Given the description of an element on the screen output the (x, y) to click on. 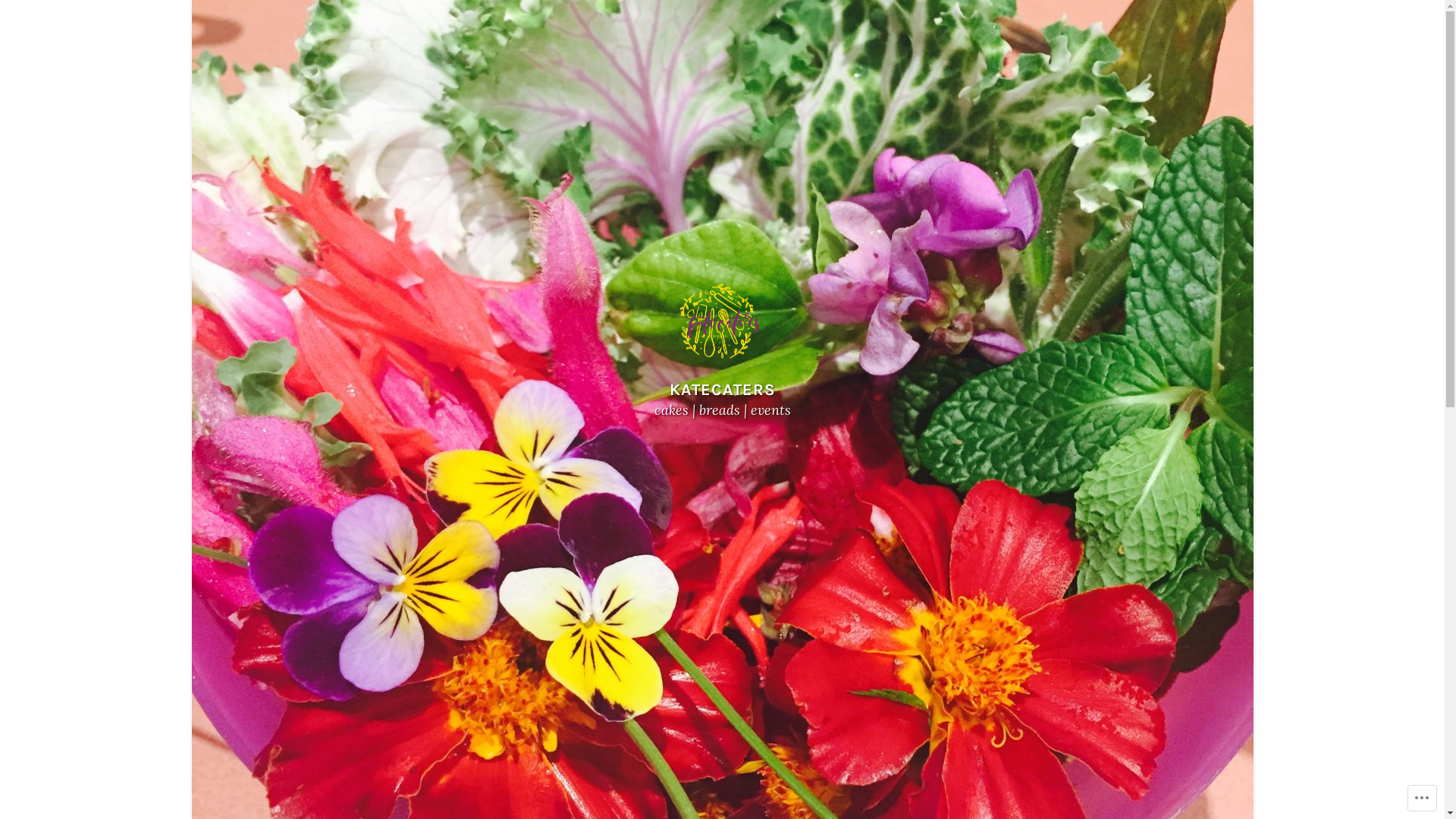
KATECATERS Element type: text (721, 388)
